Given the description of an element on the screen output the (x, y) to click on. 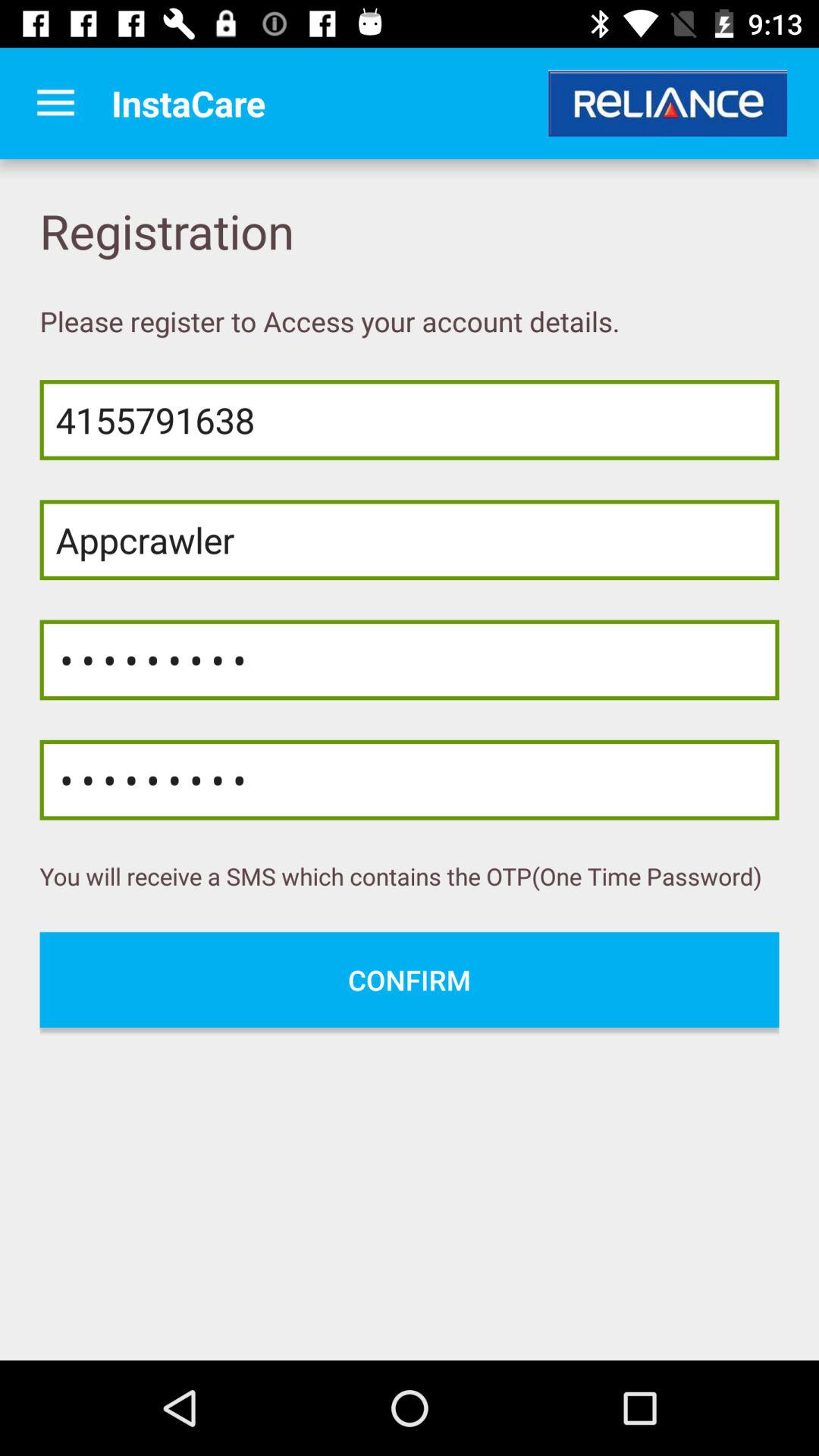
turn on item next to the instacare (55, 103)
